Given the description of an element on the screen output the (x, y) to click on. 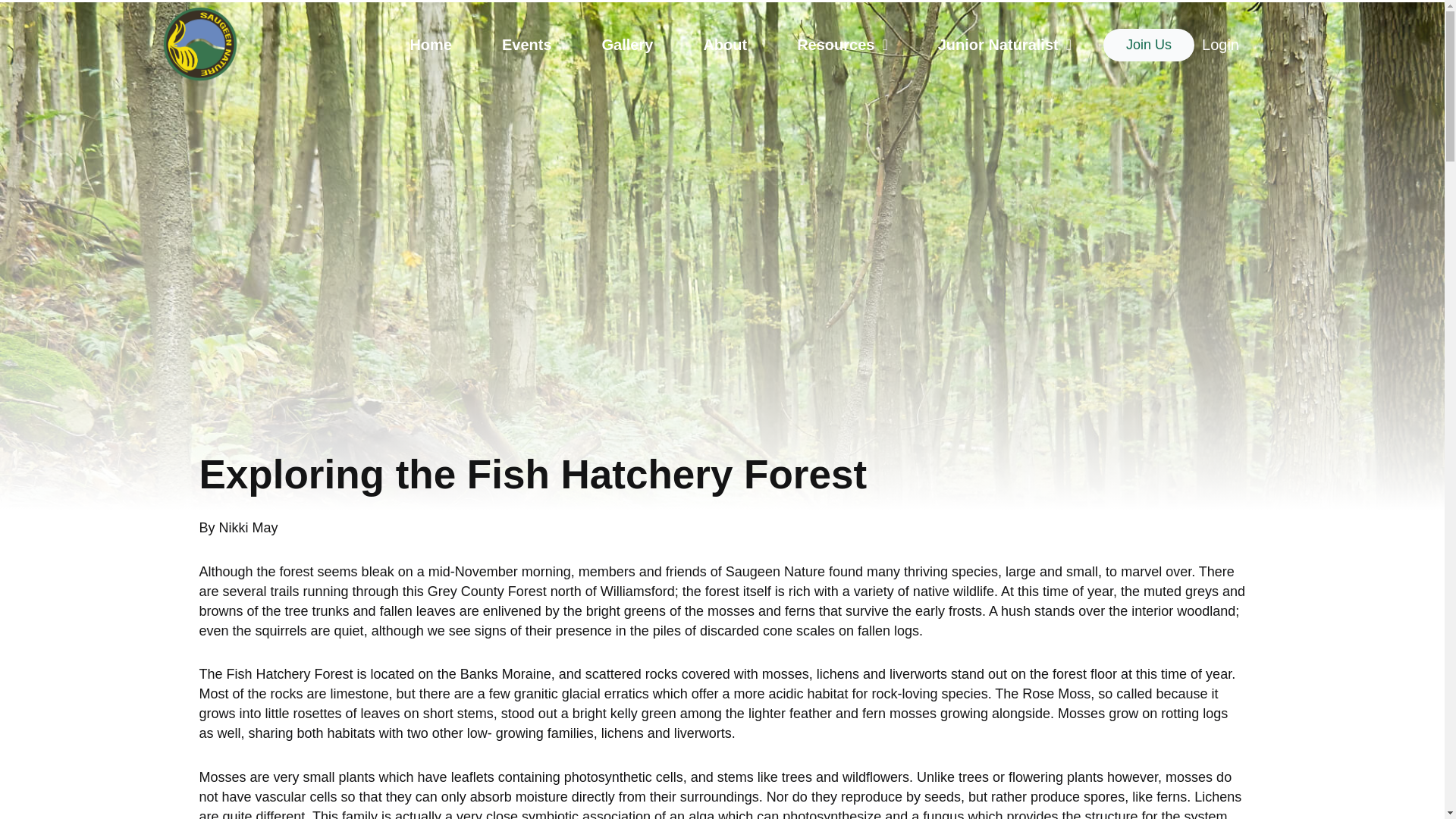
Junior Naturalist (1004, 44)
Login (1220, 44)
About (723, 44)
Gallery (627, 44)
Home (430, 44)
Resources (842, 44)
Events (526, 44)
Join Us (1148, 44)
